Given the description of an element on the screen output the (x, y) to click on. 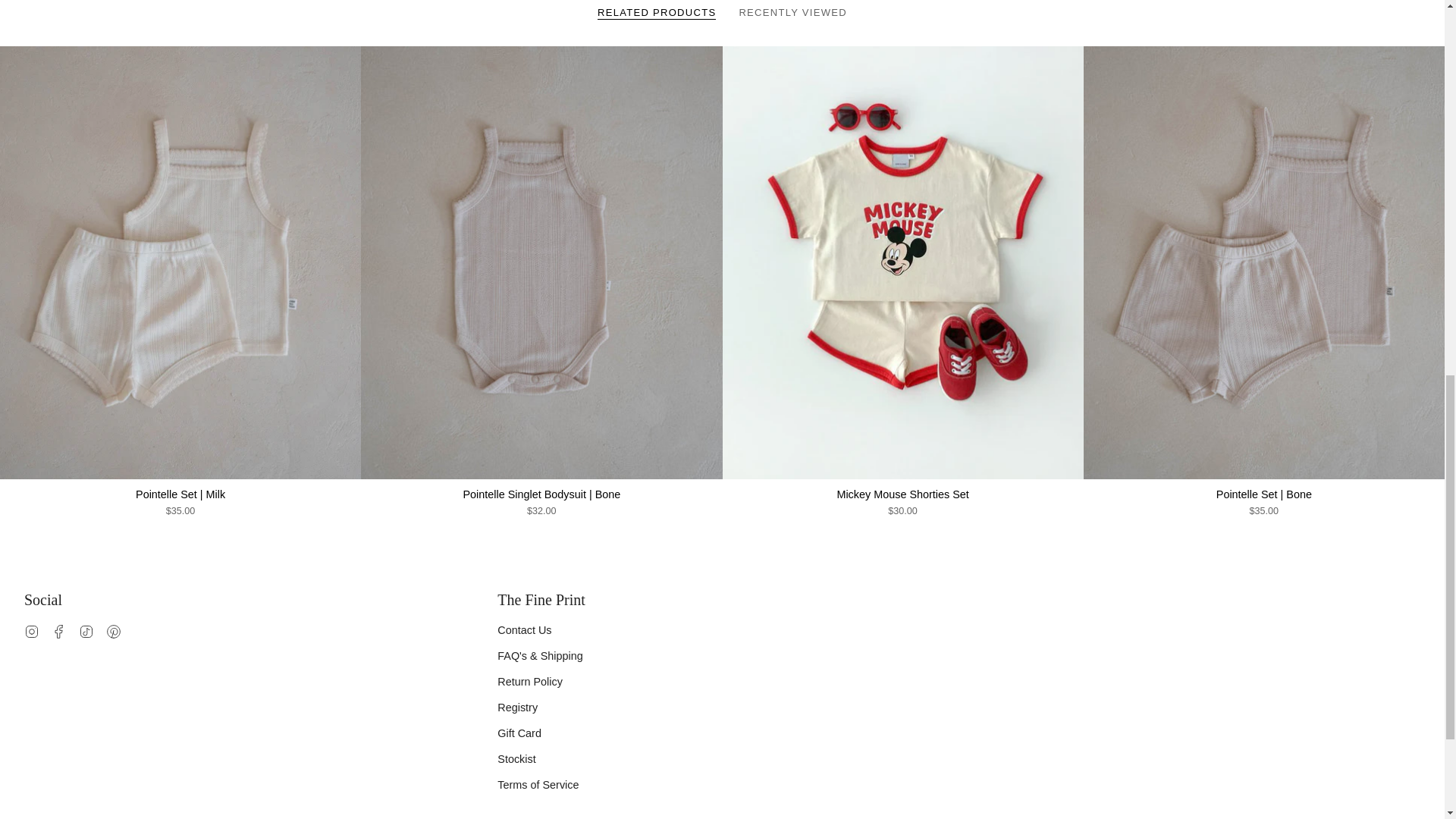
Junie Grey on Facebook (58, 630)
Junie Grey on TikTok (86, 630)
Junie Grey on Instagram (31, 630)
Junie Grey on Pinterest (113, 630)
